Given the description of an element on the screen output the (x, y) to click on. 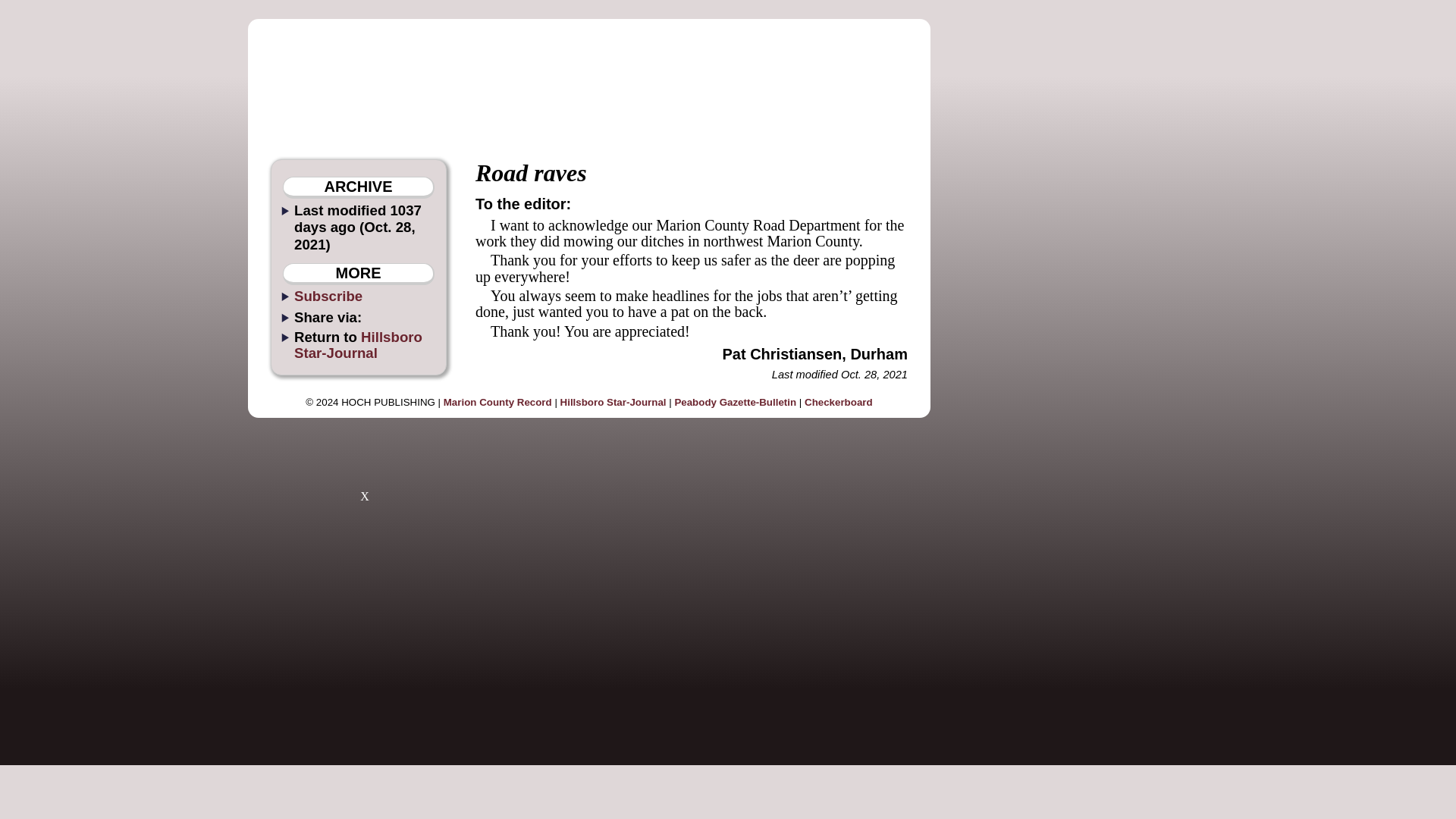
Hillsboro Star-Journal (613, 401)
Subscribe (328, 295)
Hillsboro Star-Journal (358, 345)
Peabody Gazette-Bulletin (735, 401)
Checkerboard (838, 401)
Marion County Record (497, 401)
